Given the description of an element on the screen output the (x, y) to click on. 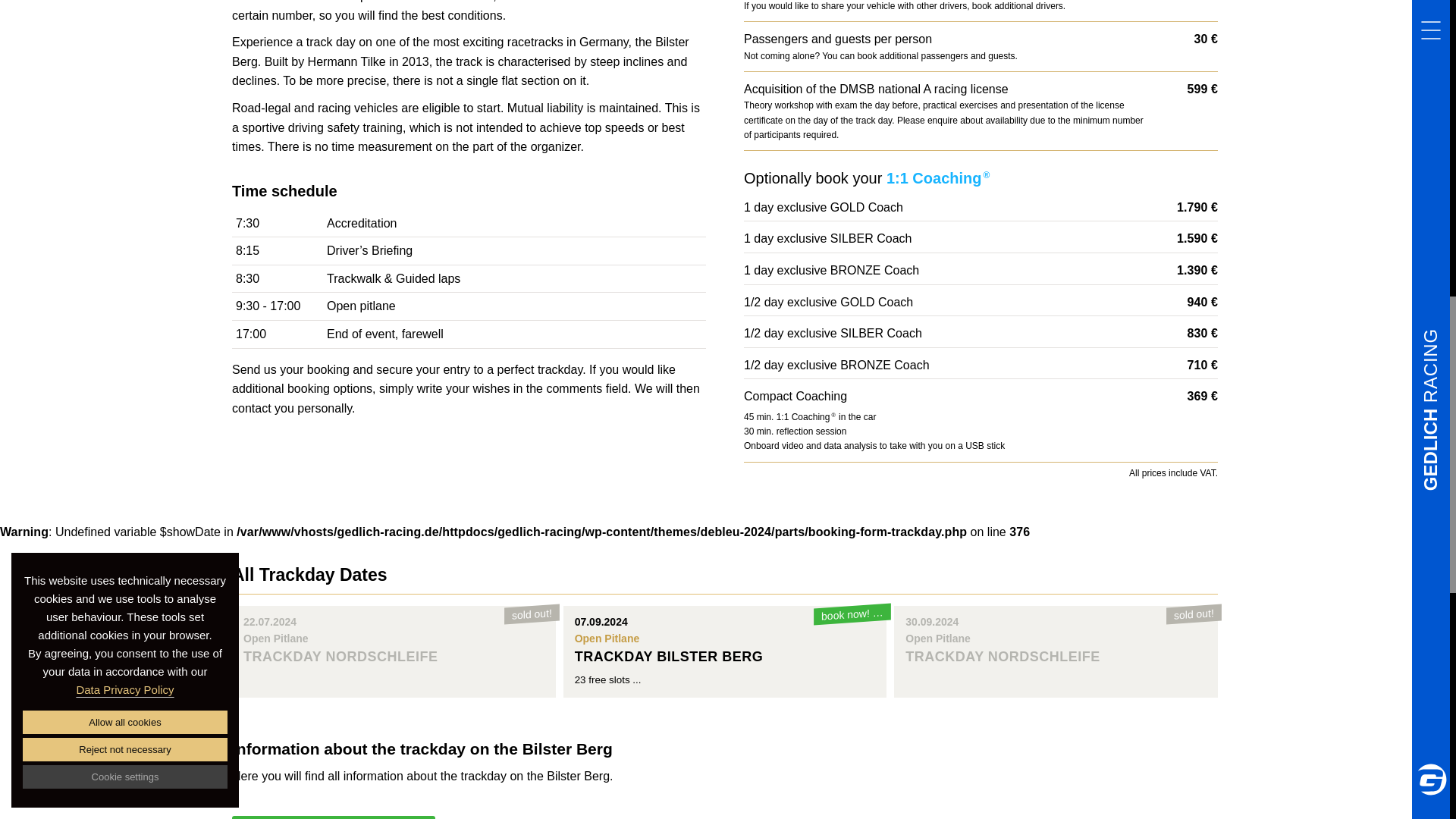
Info about the Bilster Berg (1056, 640)
